Given the description of an element on the screen output the (x, y) to click on. 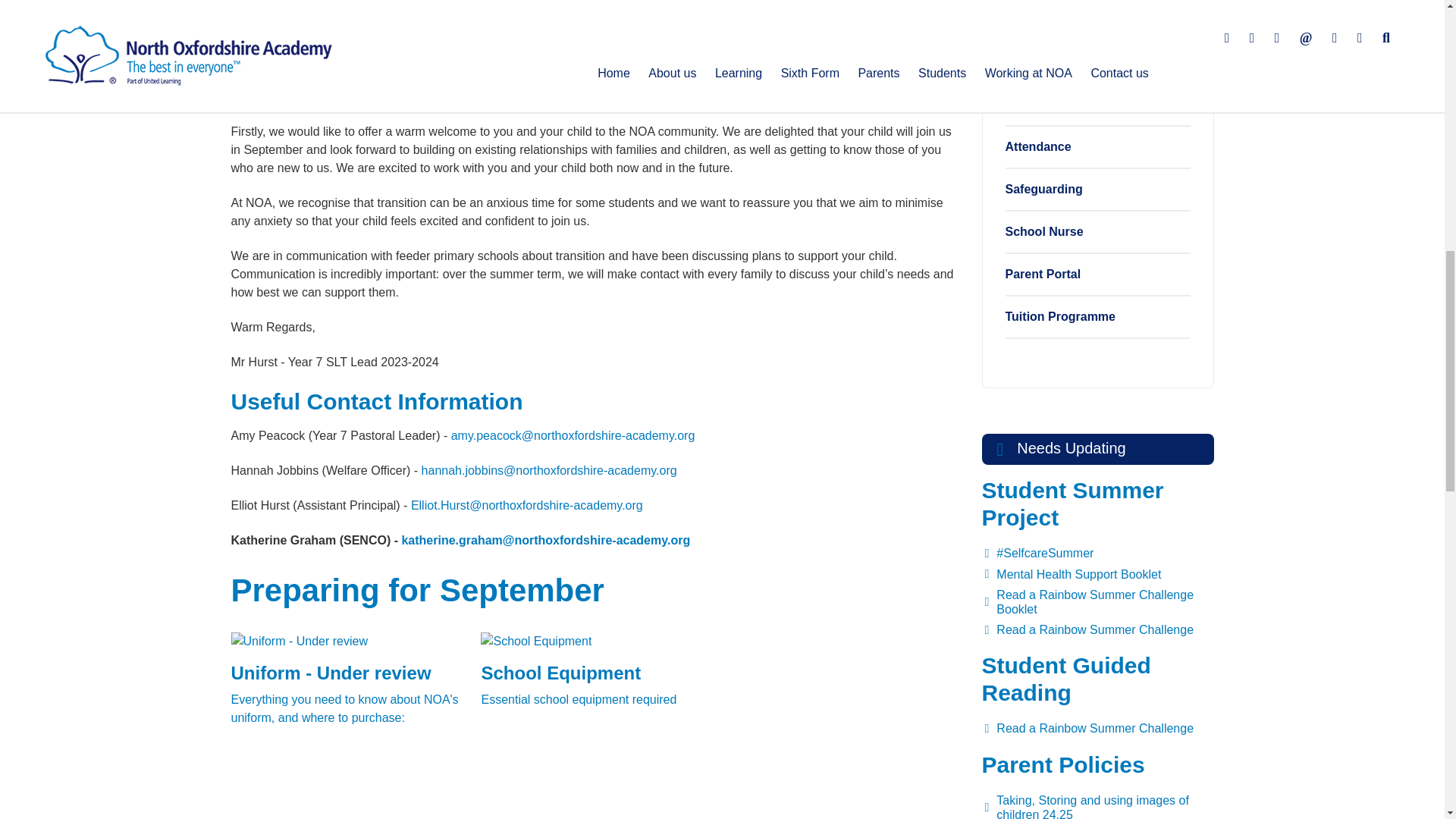
Taking, Storing and using images of children 24.25 (1096, 804)
Read a Rainbow Summer Challenge Booklet (1096, 601)
Uniform - Under review (346, 673)
Read a Rainbow Summer Challenge (1096, 629)
School Equipment (596, 664)
Needs Updating (1096, 449)
Mental Health Support Booklet (1096, 574)
Read a Rainbow Summer Challenge (1096, 728)
